Given the description of an element on the screen output the (x, y) to click on. 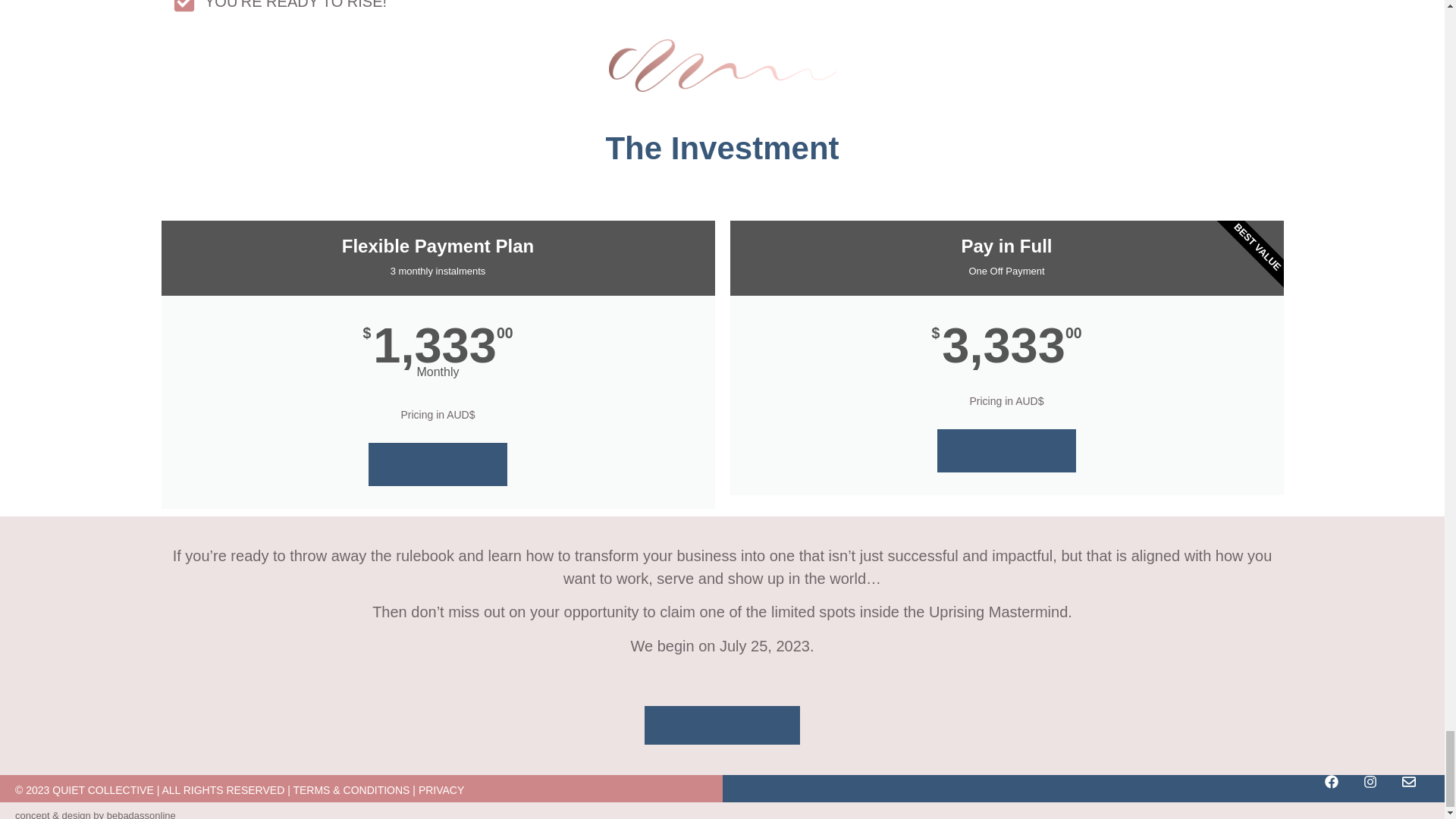
I WANT IN! (438, 464)
PRIVACY (441, 789)
APPLY HERE! (722, 724)
I WANT IN! (1007, 450)
